Given the description of an element on the screen output the (x, y) to click on. 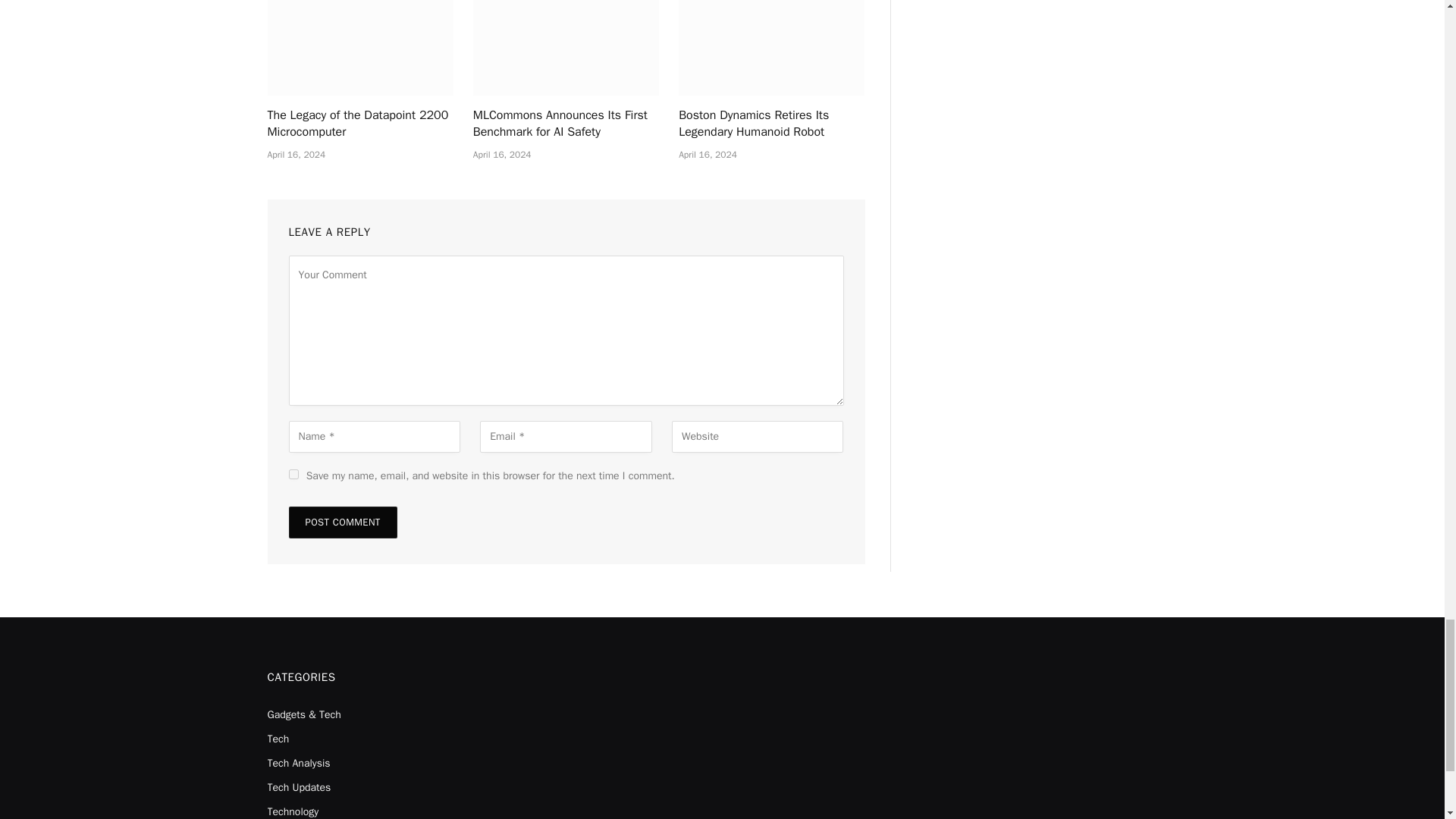
Post Comment (342, 522)
yes (293, 474)
